Given the description of an element on the screen output the (x, y) to click on. 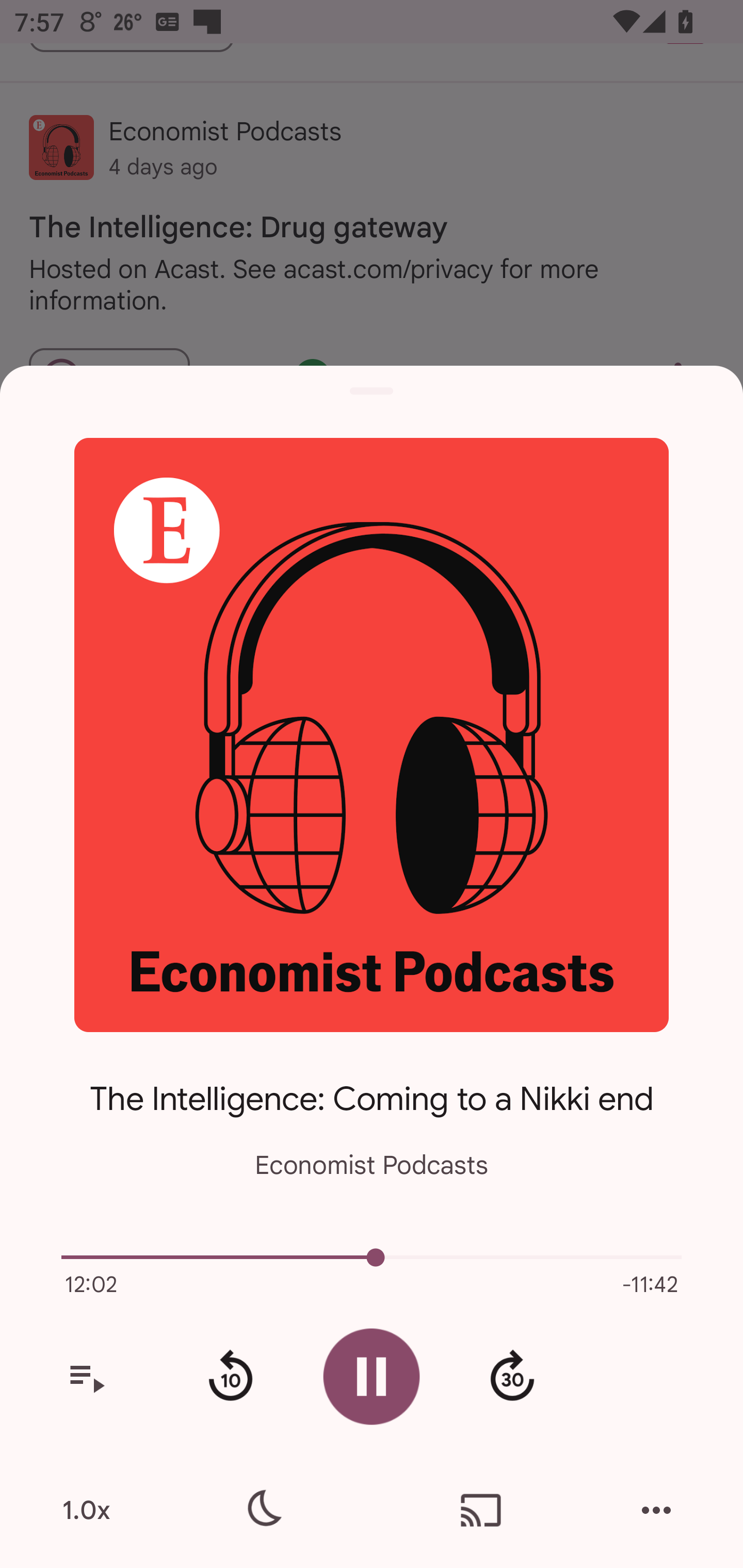
Open the show page for Economist Podcasts (371, 734)
5070.0 Current episode playback (371, 1257)
Pause (371, 1376)
View your queue (86, 1376)
Rewind 10 seconds (230, 1376)
Fast forward 30 second (511, 1376)
1.0x Playback speed is 1.0. (86, 1510)
Sleep timer settings (261, 1510)
Cast. Disconnected (480, 1510)
More actions (655, 1510)
